Given the description of an element on the screen output the (x, y) to click on. 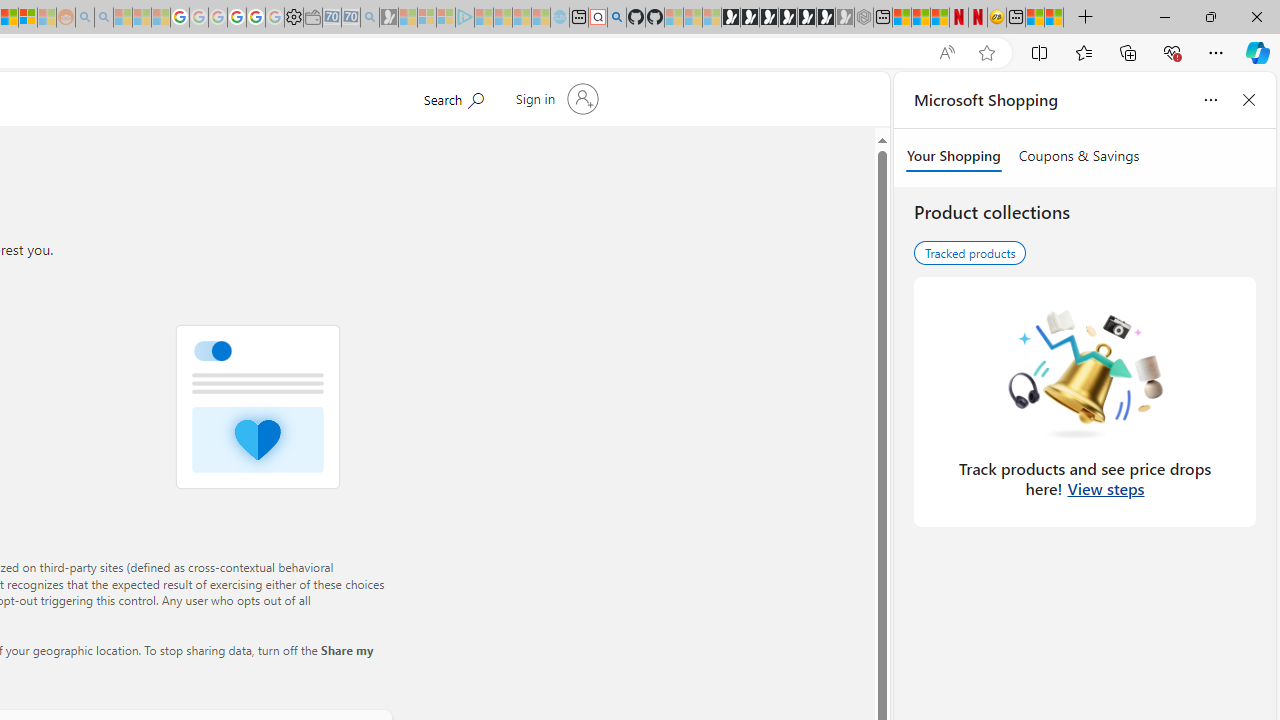
Sign in to your account (554, 98)
